Given the description of an element on the screen output the (x, y) to click on. 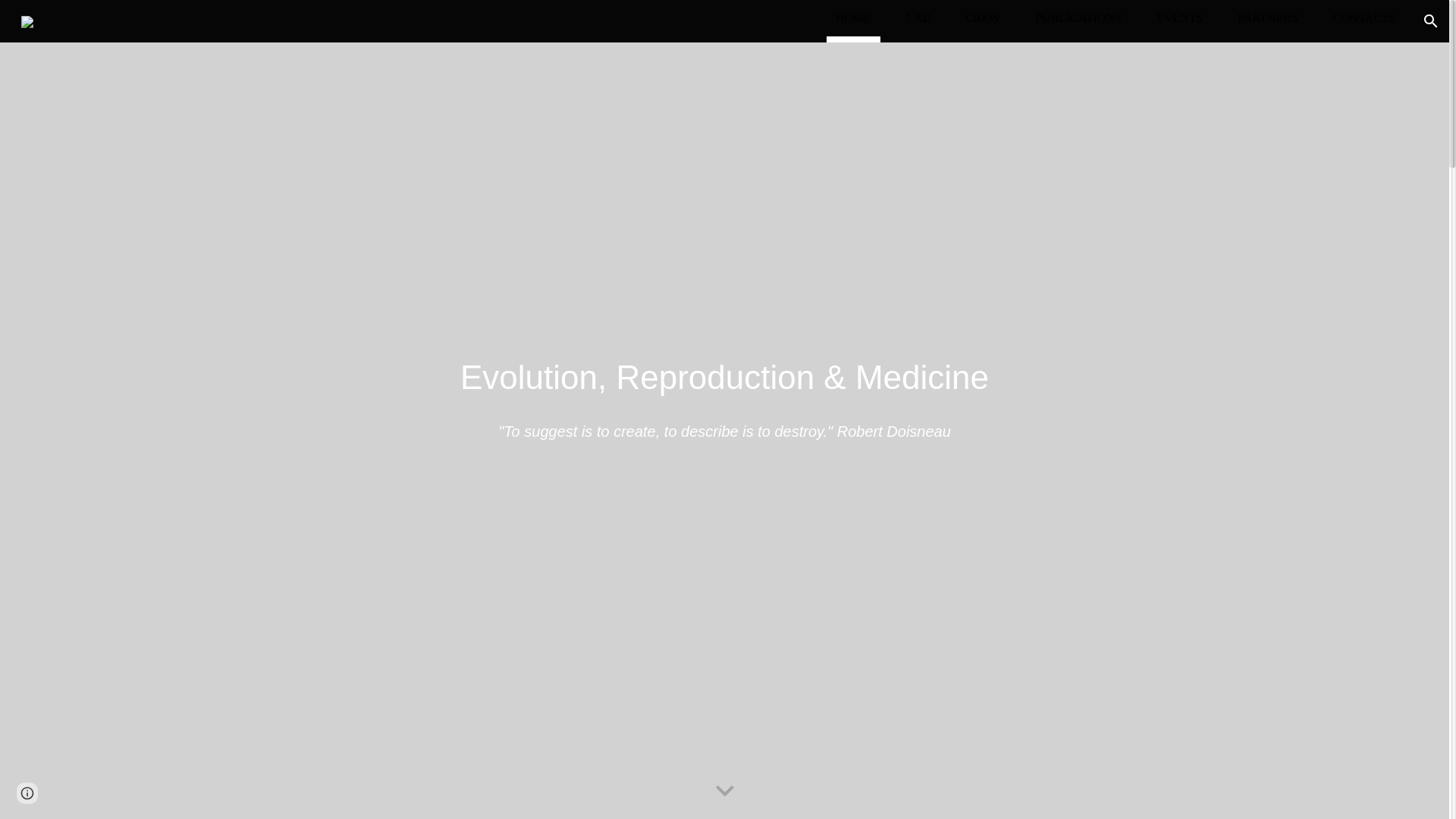
PUBLICATIONS (1078, 17)
HOME (852, 17)
CREW (982, 17)
EVENTS (1179, 17)
CONTACTS (1364, 17)
LAB (917, 17)
PARTNERS (1267, 17)
